Given the description of an element on the screen output the (x, y) to click on. 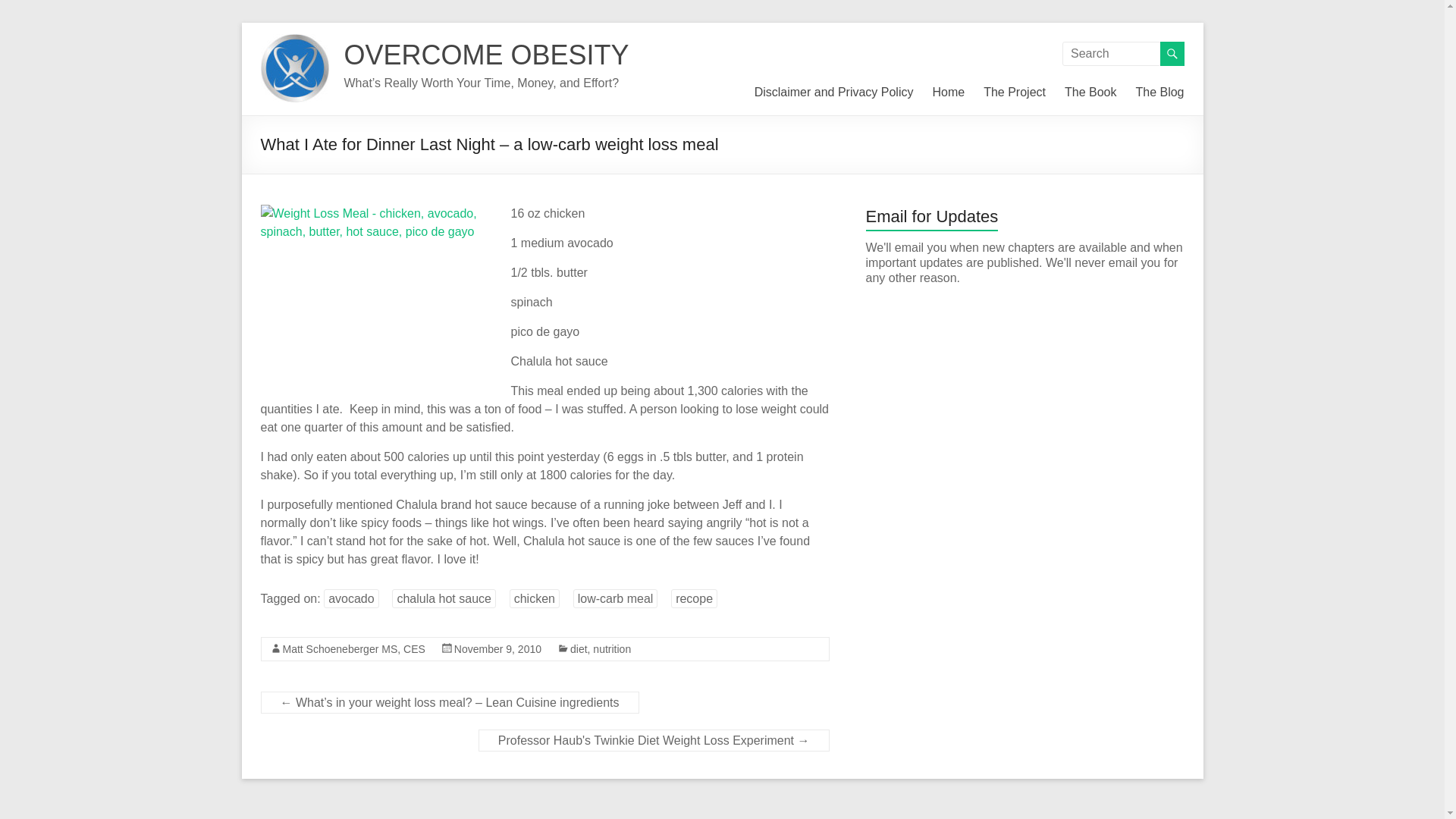
diet (579, 648)
avocado (350, 598)
November 9, 2010 (497, 648)
Home (947, 92)
chalula hot sauce (443, 598)
OVERCOME OBESITY (485, 54)
nutrition (611, 648)
The Book (1090, 92)
Matt Schoeneberger MS, CES (353, 648)
low-carb meal (615, 598)
OVERCOME OBESITY (485, 54)
recope (694, 598)
8:31 am (497, 648)
